Given the description of an element on the screen output the (x, y) to click on. 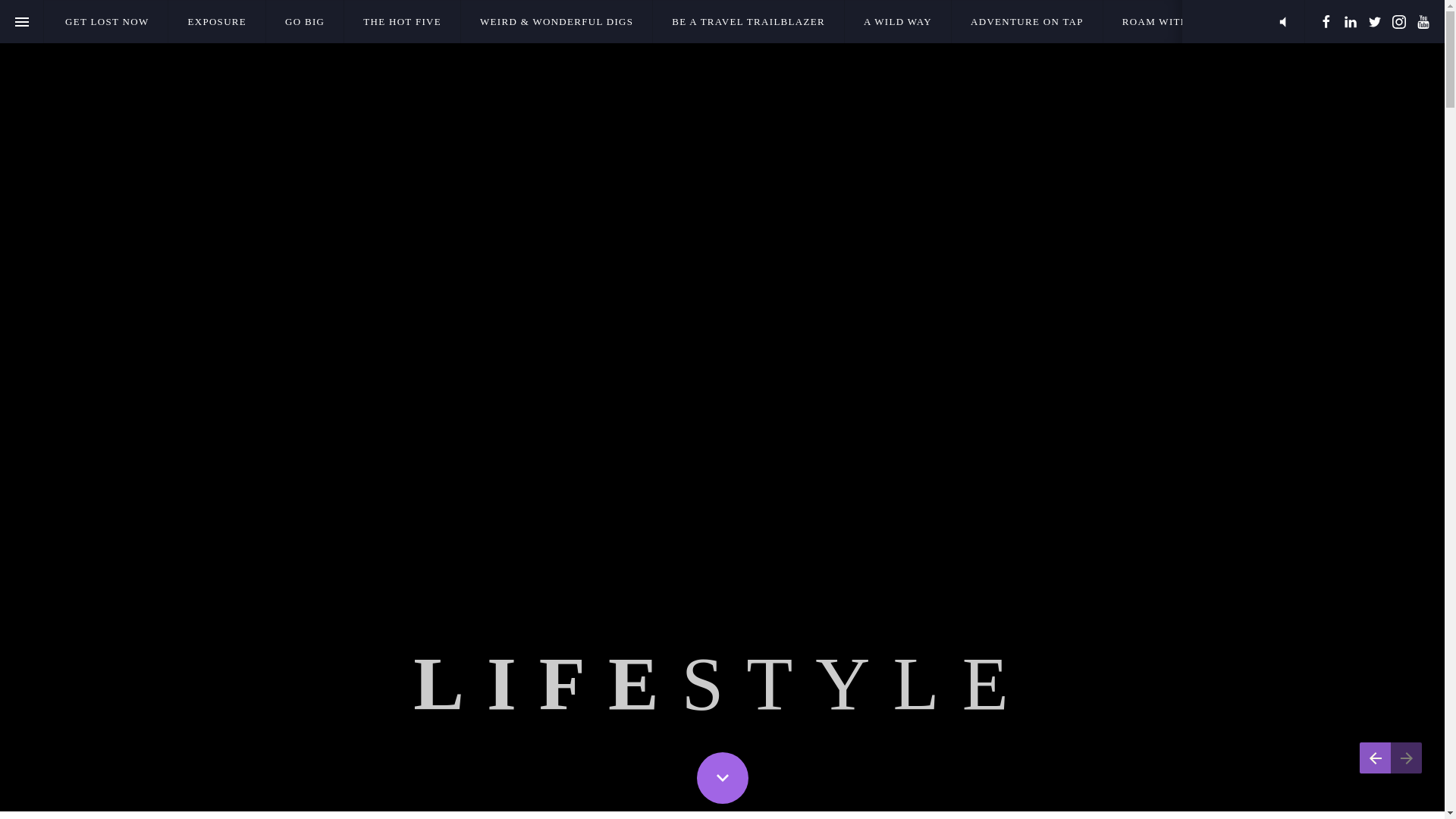
LinkedIn (1350, 20)
EXPOSURE (216, 21)
A WILD WAY (897, 21)
Facebook (1326, 20)
THE HOT FIVE (401, 21)
BE A TRAVEL TRAILBLAZER (748, 21)
GO BIG (304, 21)
Instagram (1399, 20)
Twitter (1375, 20)
Youtube (1423, 20)
ADVENTURE ON TAP (1027, 21)
ROAM WITH CONFIDENCE (1193, 21)
GET LOST NOW (106, 21)
THE HIGH LIFE (1344, 21)
